Given the description of an element on the screen output the (x, y) to click on. 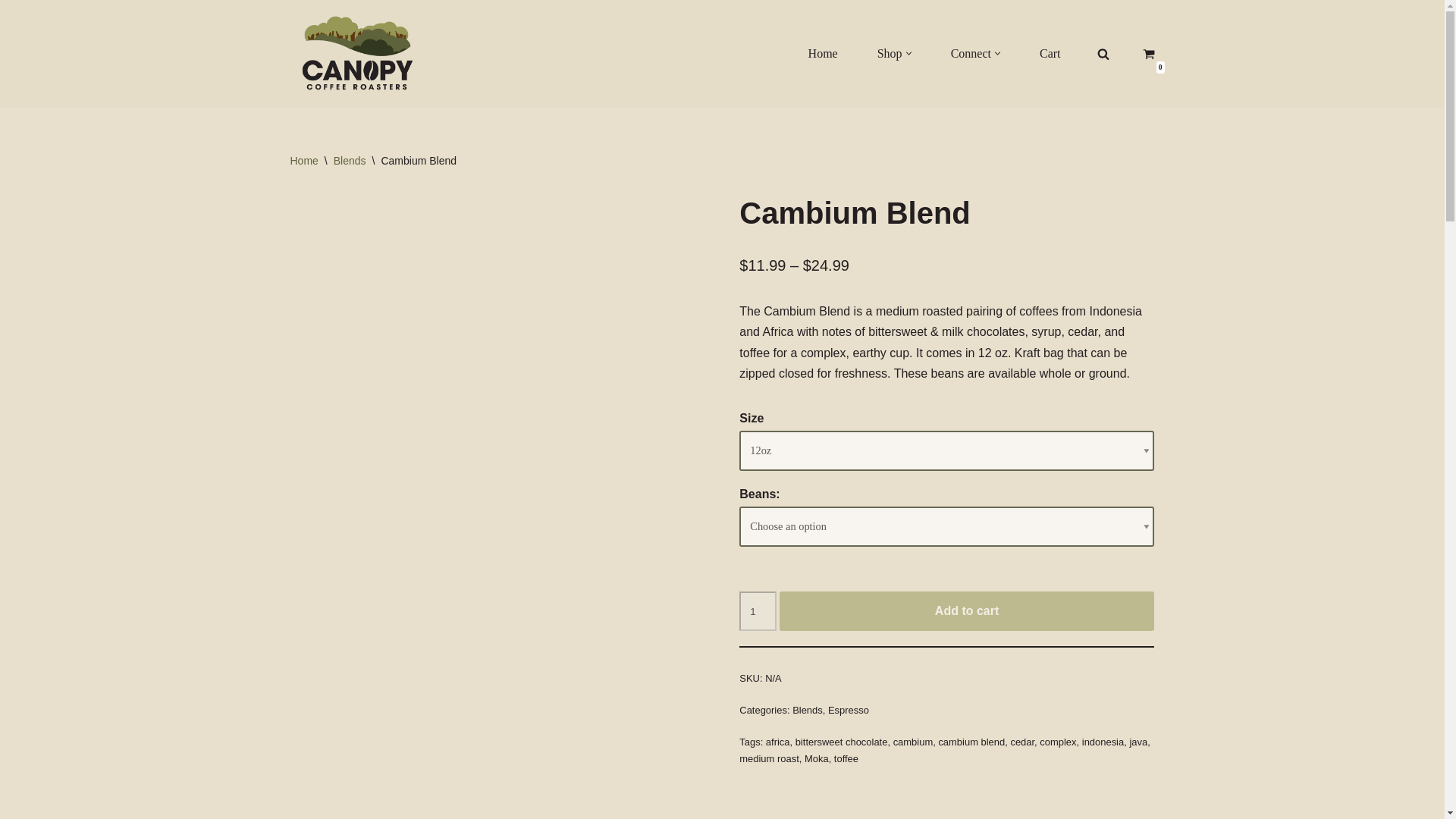
1 (757, 610)
Connect (970, 53)
Skip to content (11, 31)
Home (823, 53)
